Given the description of an element on the screen output the (x, y) to click on. 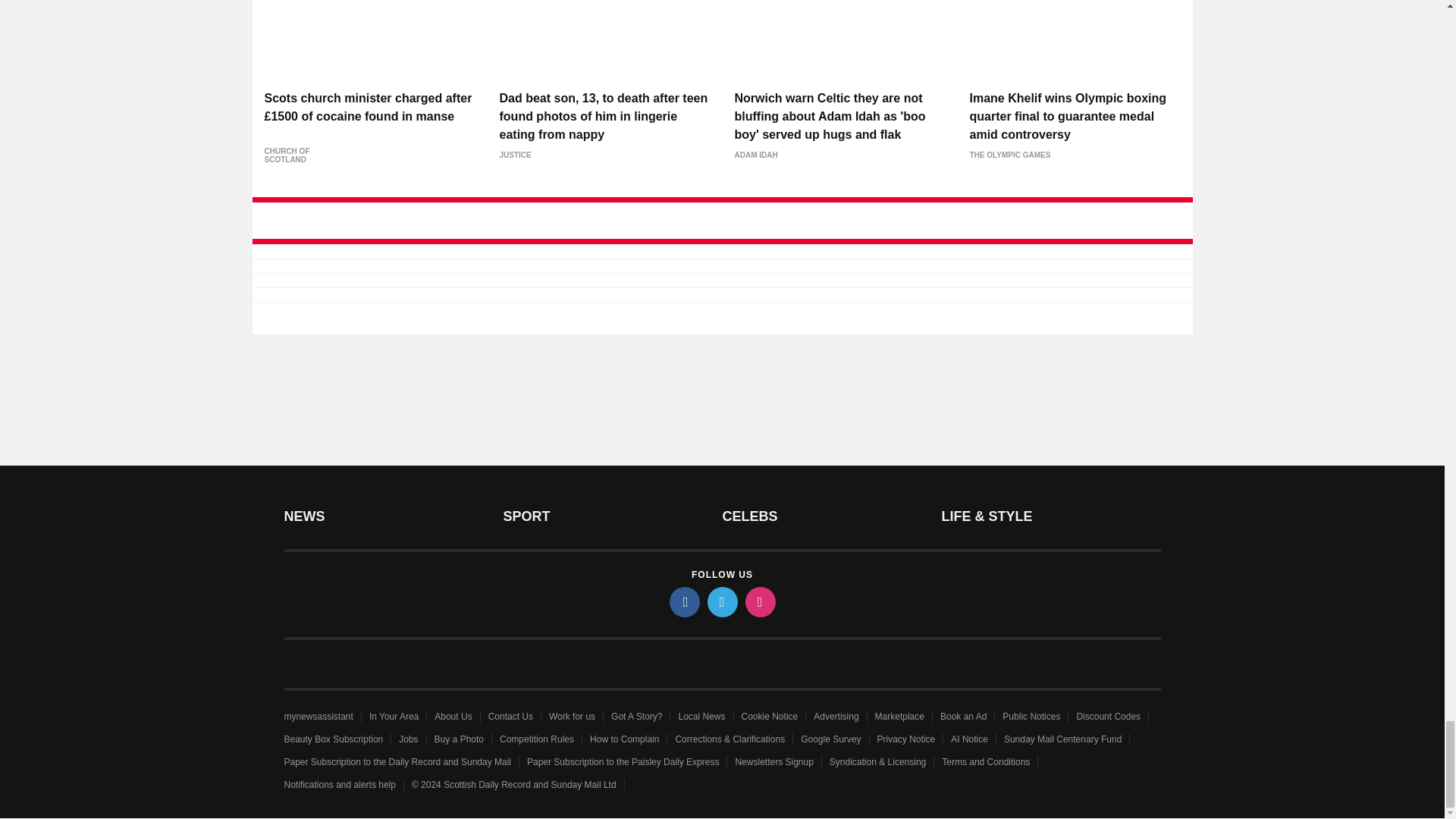
facebook (683, 602)
twitter (721, 602)
instagram (759, 602)
